Given the description of an element on the screen output the (x, y) to click on. 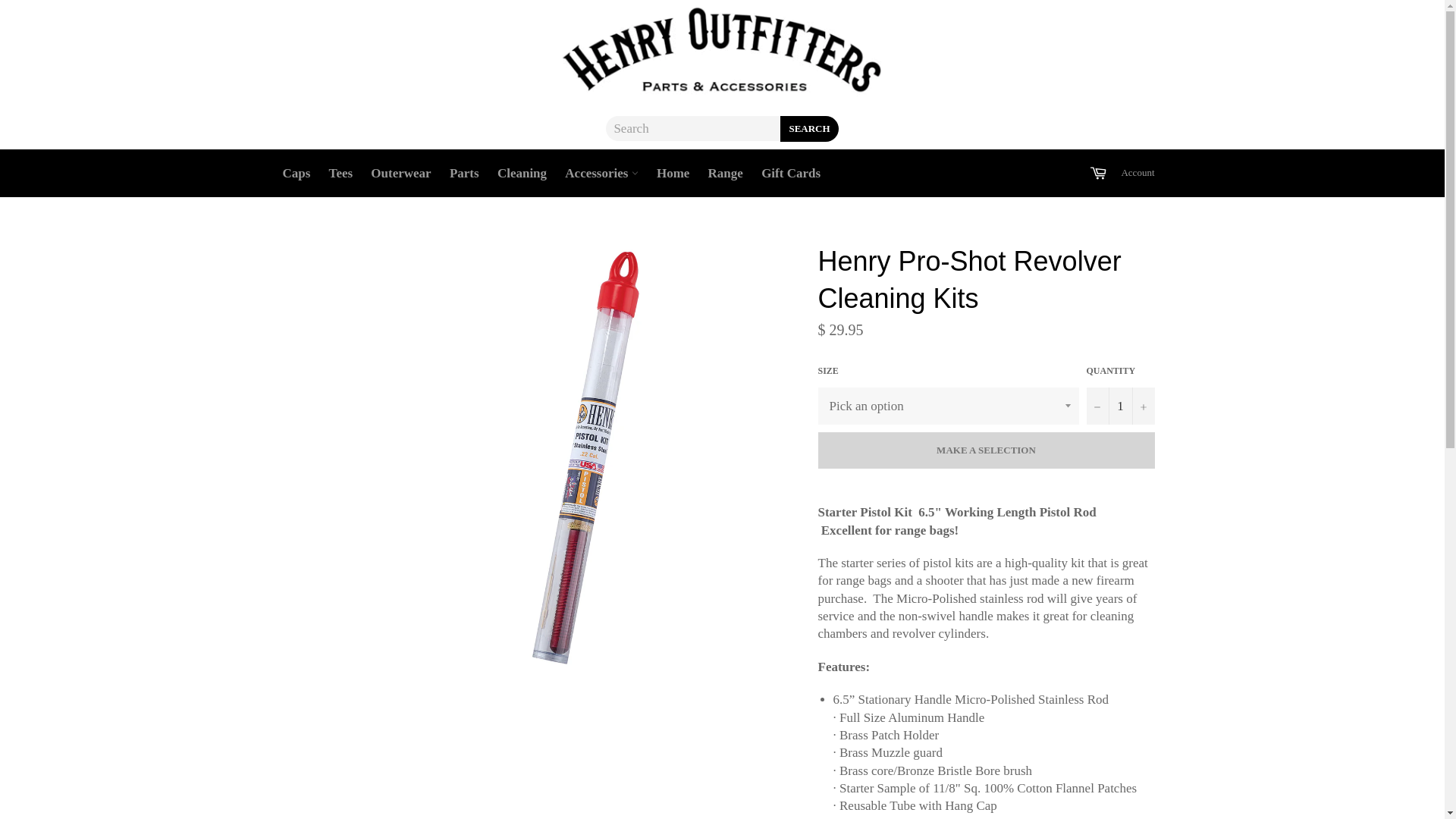
Caps (296, 173)
Home (673, 173)
Account (1137, 172)
SEARCH (809, 128)
Gift Cards (791, 173)
Outerwear (400, 173)
1 (1120, 406)
Accessories (601, 173)
Cart (1097, 172)
Cleaning (521, 173)
